Given the description of an element on the screen output the (x, y) to click on. 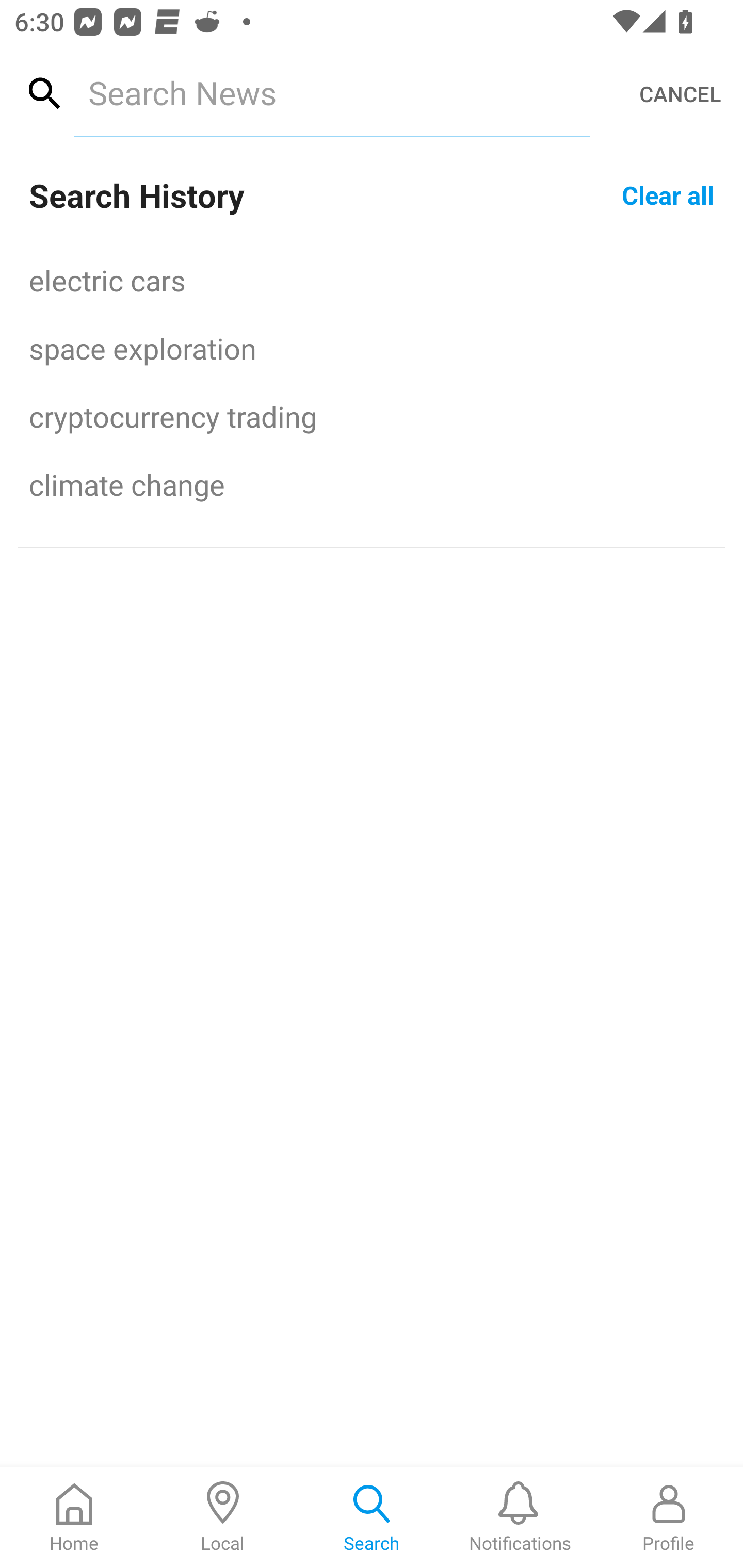
CANCEL (680, 93)
Search News (331, 92)
Clear all (667, 194)
electric cars (371, 279)
space exploration (371, 347)
cryptocurrency trading (371, 416)
climate change (371, 484)
Home (74, 1517)
Local (222, 1517)
Notifications (519, 1517)
Profile (668, 1517)
